Given the description of an element on the screen output the (x, y) to click on. 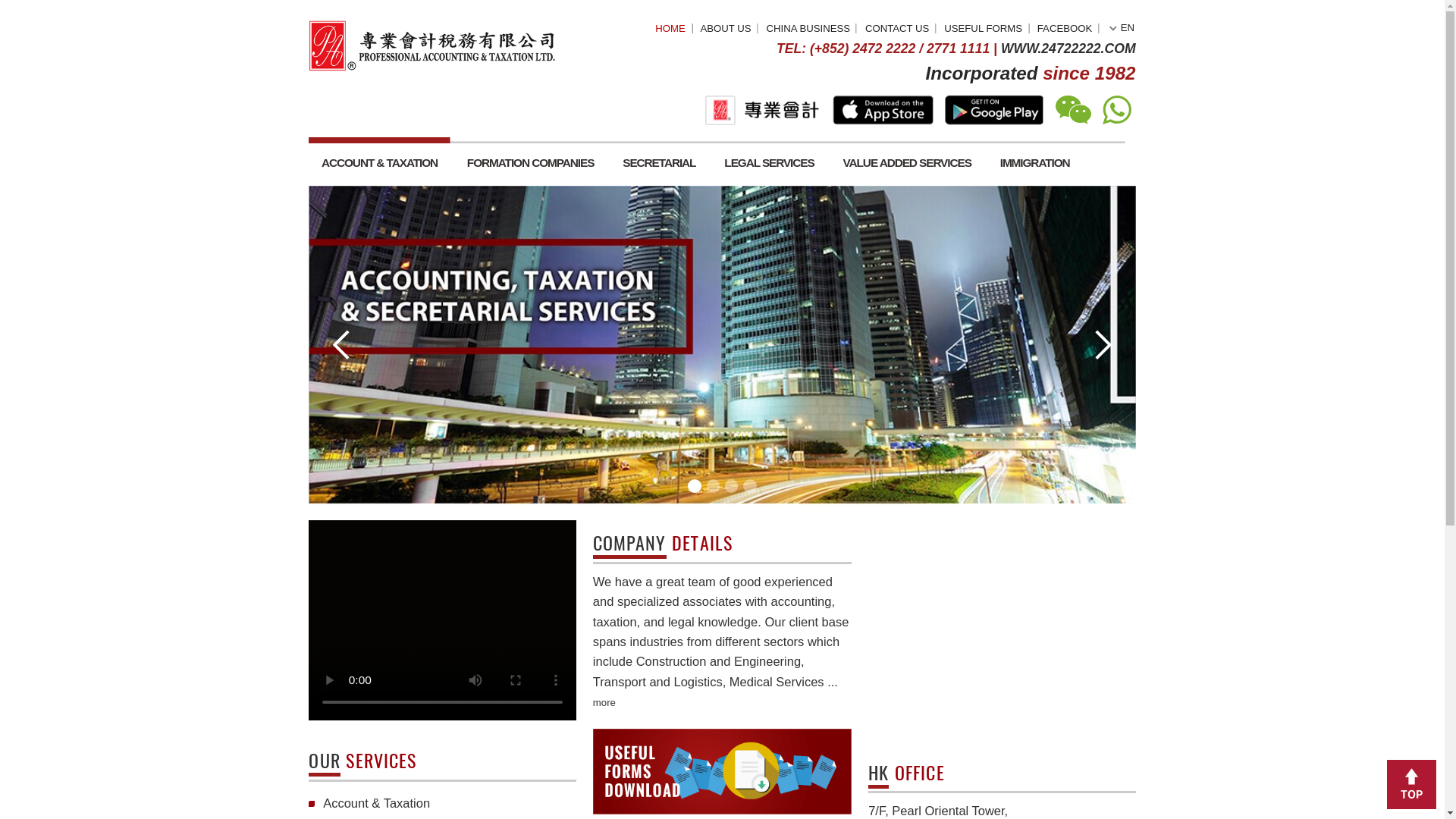
VALUE ADDED SERVICES Element type: text (823, 147)
Trademark (Worldwide) Element type: text (352, 793)
Account & Taxation Element type: text (341, 730)
WWW.24722222.COM Element type: text (971, 43)
FACEBOOK Element type: text (967, 17)
CONTACT US Element type: text (815, 17)
HOME Element type: text (609, 17)
SECRETARIAL Element type: text (599, 147)
Company Secretarial Element type: text (346, 750)
ACCOUNT & TAXATION Element type: text (344, 147)
FORMATION COMPANIES Element type: text (481, 147)
CHINA BUSINESS Element type: text (735, 17)
IMMIGRATION  Element type: text (941, 147)
ABOUT US Element type: text (660, 17)
LEGAL SERVICES Element type: text (699, 147)
USEFUL FORMS Element type: text (893, 17)
Formation Companies Element type: text (349, 771)
more Element type: text (549, 638)
